Given the description of an element on the screen output the (x, y) to click on. 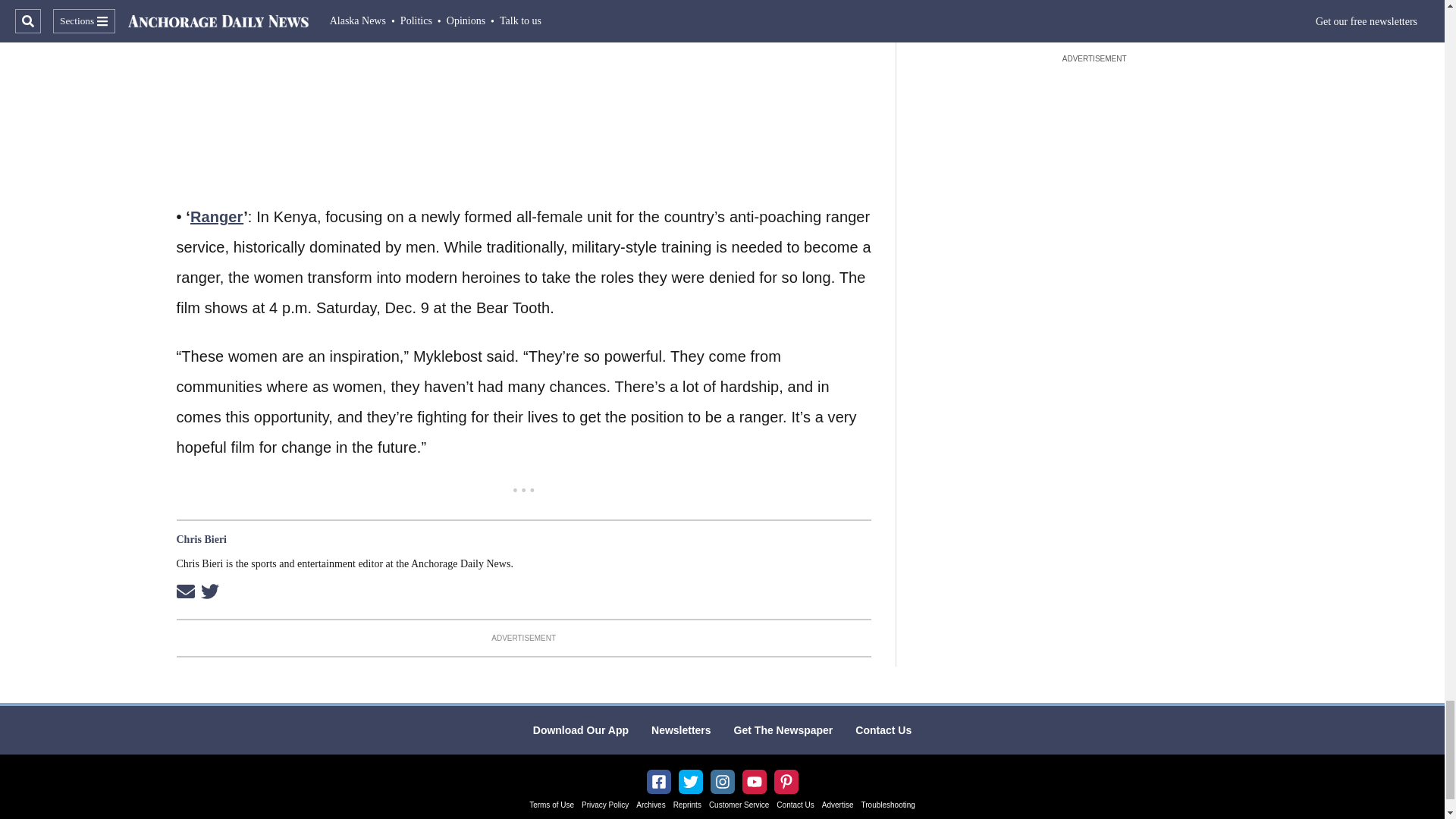
PinterestAnchorage Daily News Pinterest Account (785, 781)
Instagram IconAnchorage Daily News instagram account (721, 781)
Facebook IconAnchorage Daily News Facebook Page (657, 781)
YouTube iconAnchorage Daily News YouTube channel (753, 781)
Twitter IconTwitter Account for Anchorage Daily News (689, 781)
